Given the description of an element on the screen output the (x, y) to click on. 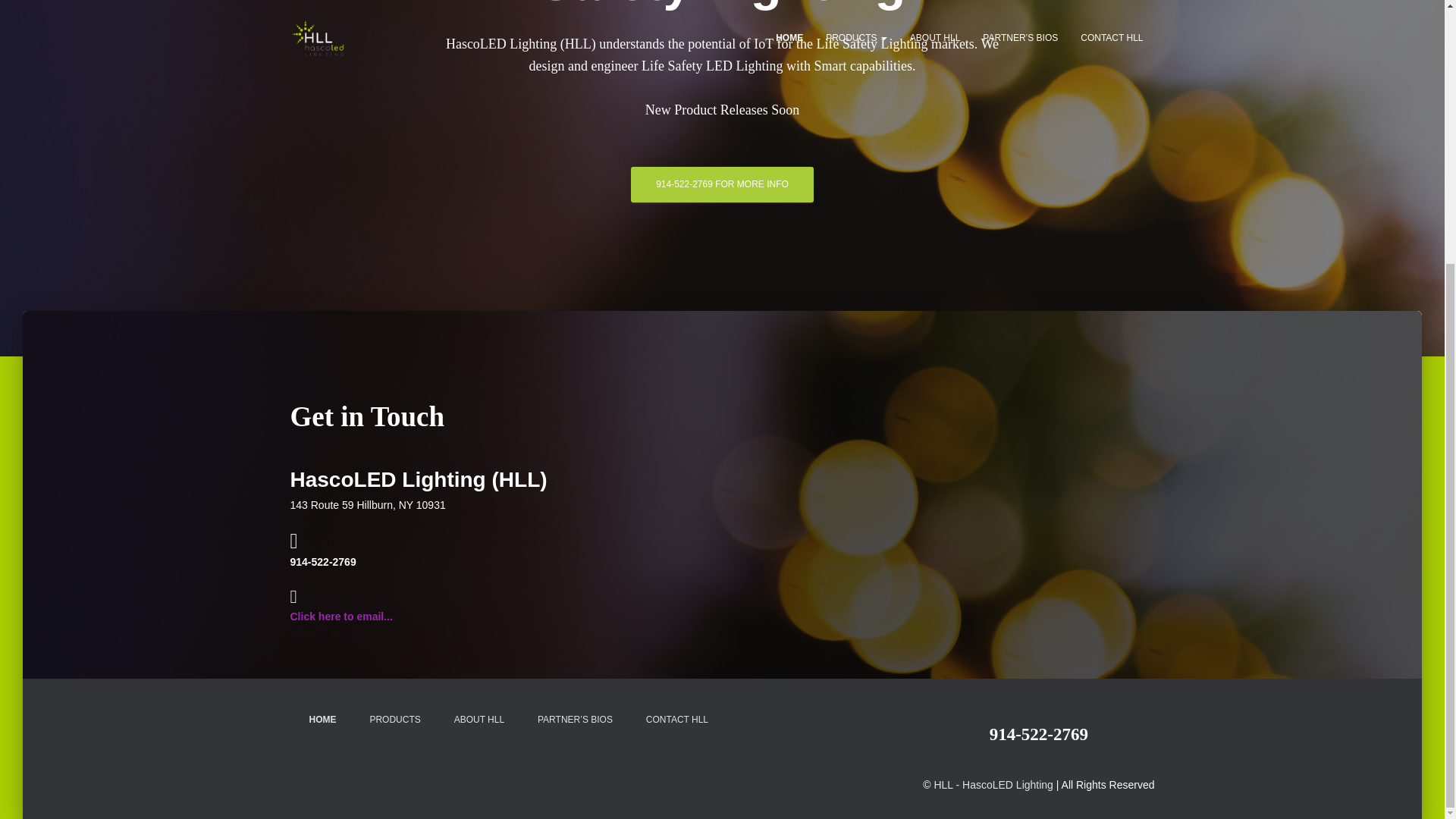
914-522-2769 FOR MORE INFO (721, 184)
HLL - HascoLED Lighting (992, 784)
Click here to email... (340, 616)
914-522-2769 for more Info (721, 184)
HOME (322, 719)
ABOUT HLL (478, 719)
CONTACT HLL (676, 719)
PRODUCTS (394, 719)
